Given the description of an element on the screen output the (x, y) to click on. 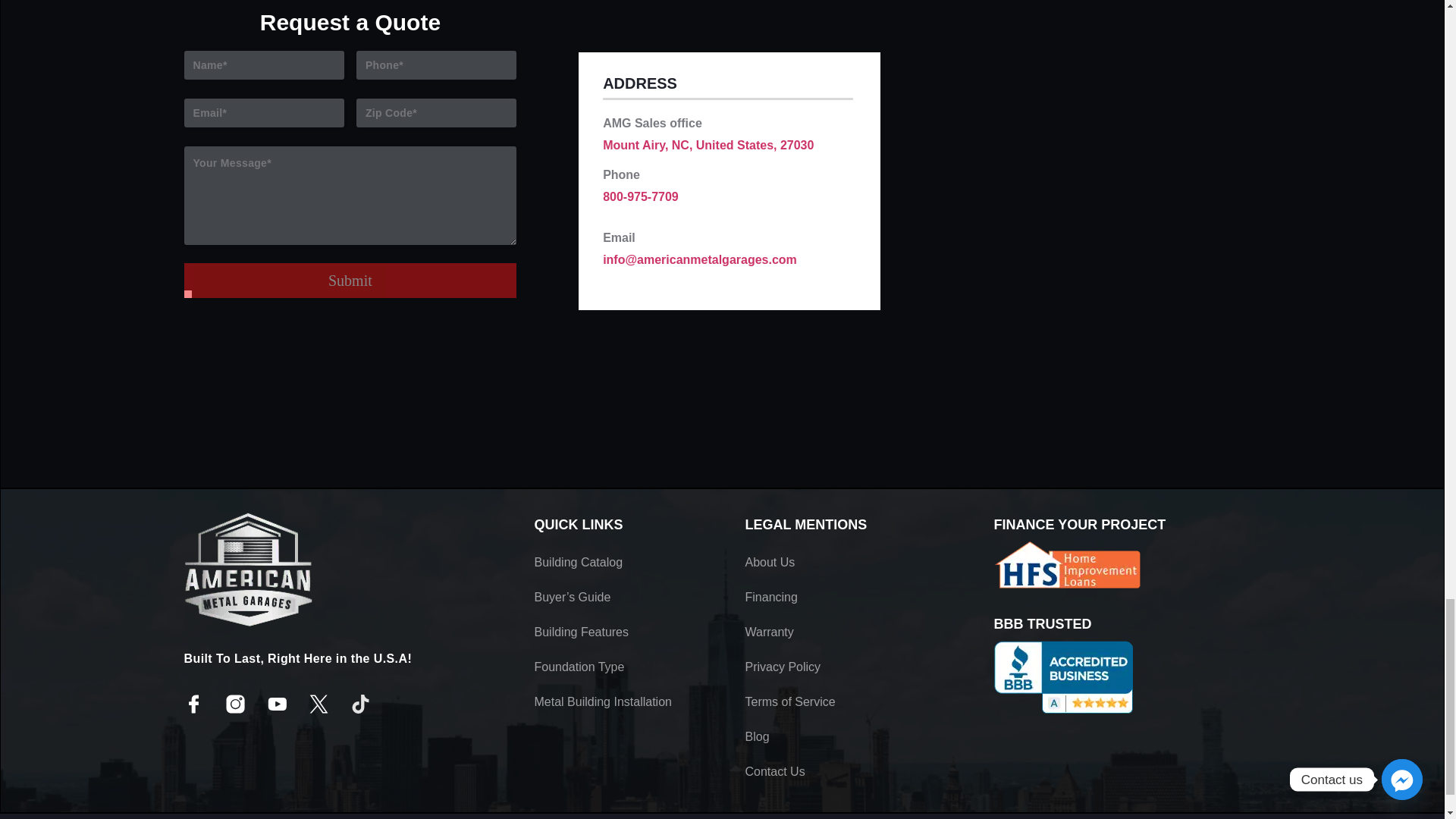
Submit (349, 280)
Submit (349, 280)
Mount Airy, NC, United States, 27030 (707, 144)
800-975-7709 (640, 196)
